Given the description of an element on the screen output the (x, y) to click on. 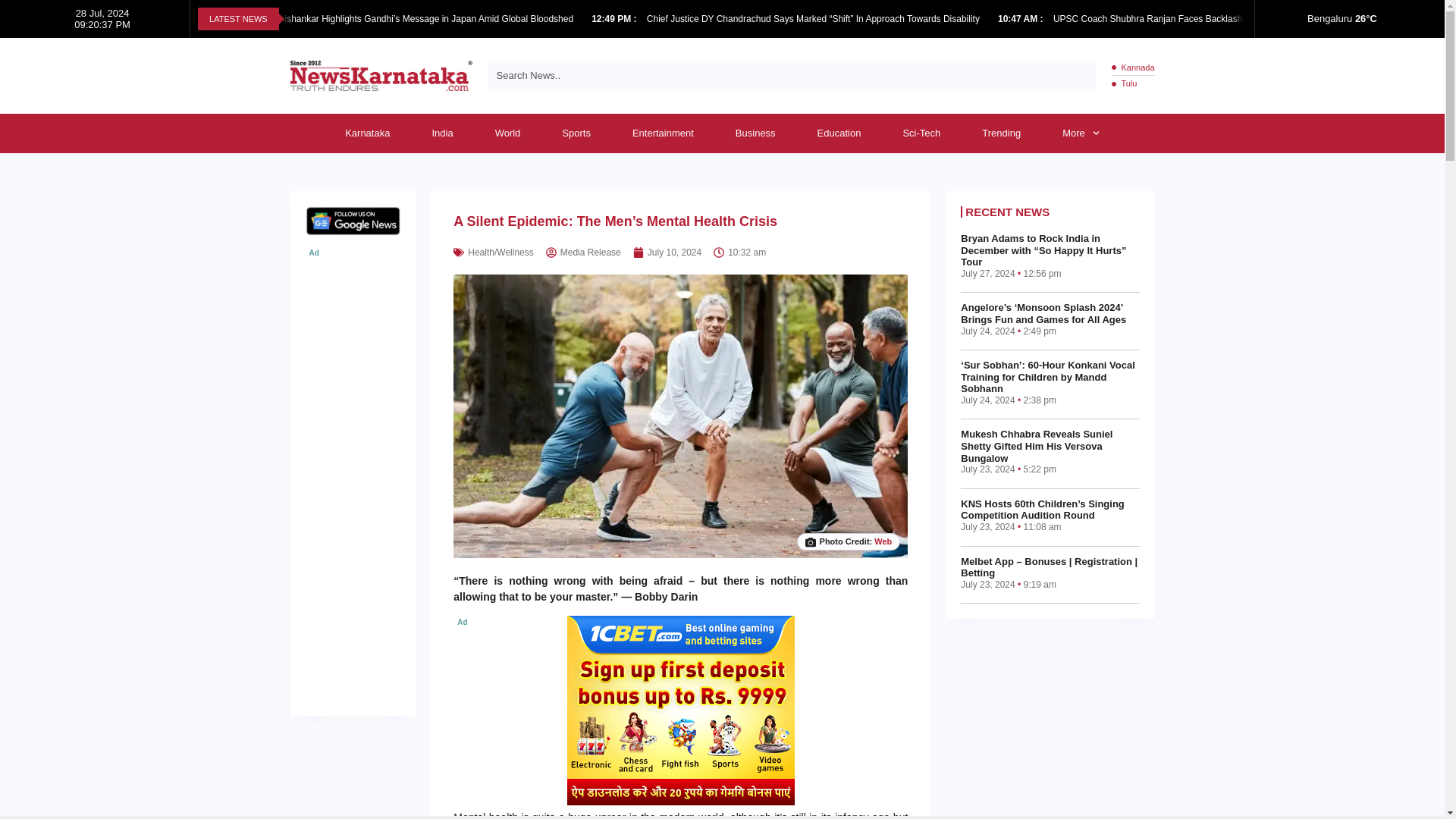
Published on: July 28, 2024 12:49 pm (615, 18)
Published on: July 28, 2024 10:47 am (1021, 18)
